Given the description of an element on the screen output the (x, y) to click on. 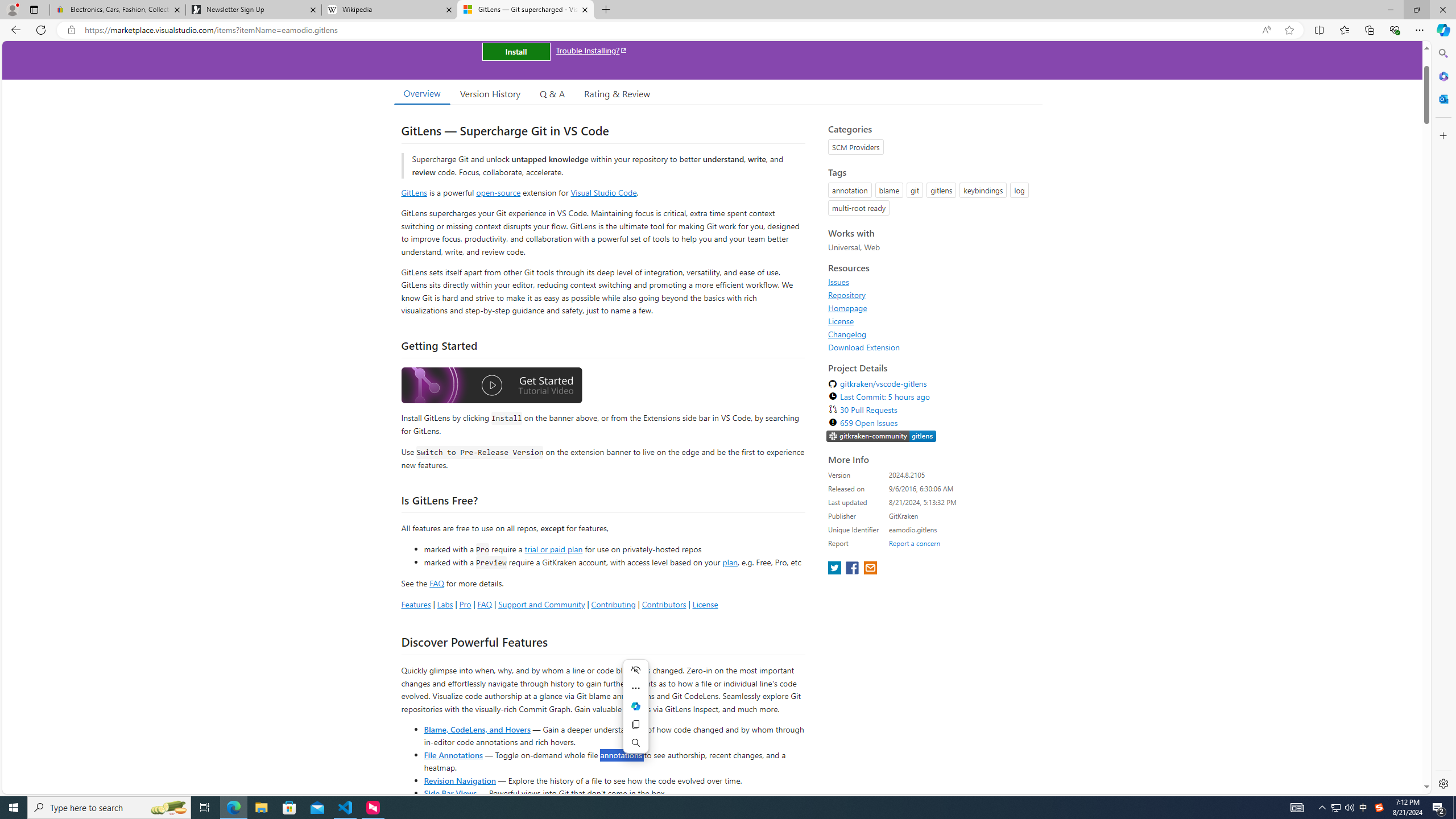
Issues (931, 281)
Install (515, 51)
FAQ (484, 603)
Report a concern (914, 542)
Changelog (931, 333)
Revision Navigation (459, 780)
More actions (635, 687)
https://slack.gitkraken.com// (881, 436)
